Given the description of an element on the screen output the (x, y) to click on. 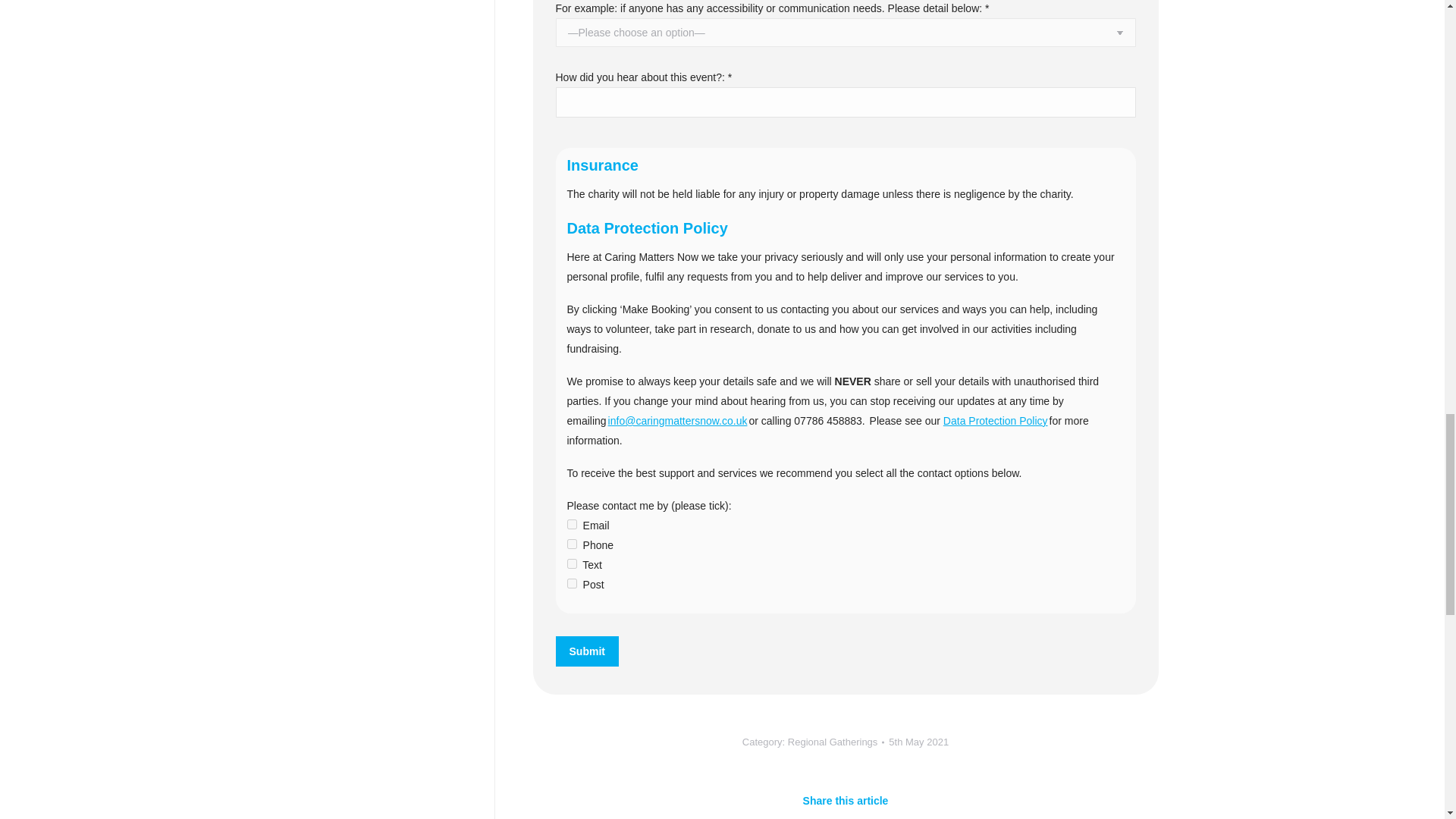
Submit (585, 651)
Phone (571, 543)
11:11 am (918, 742)
Post (571, 583)
Text (571, 563)
Email (571, 524)
